Given the description of an element on the screen output the (x, y) to click on. 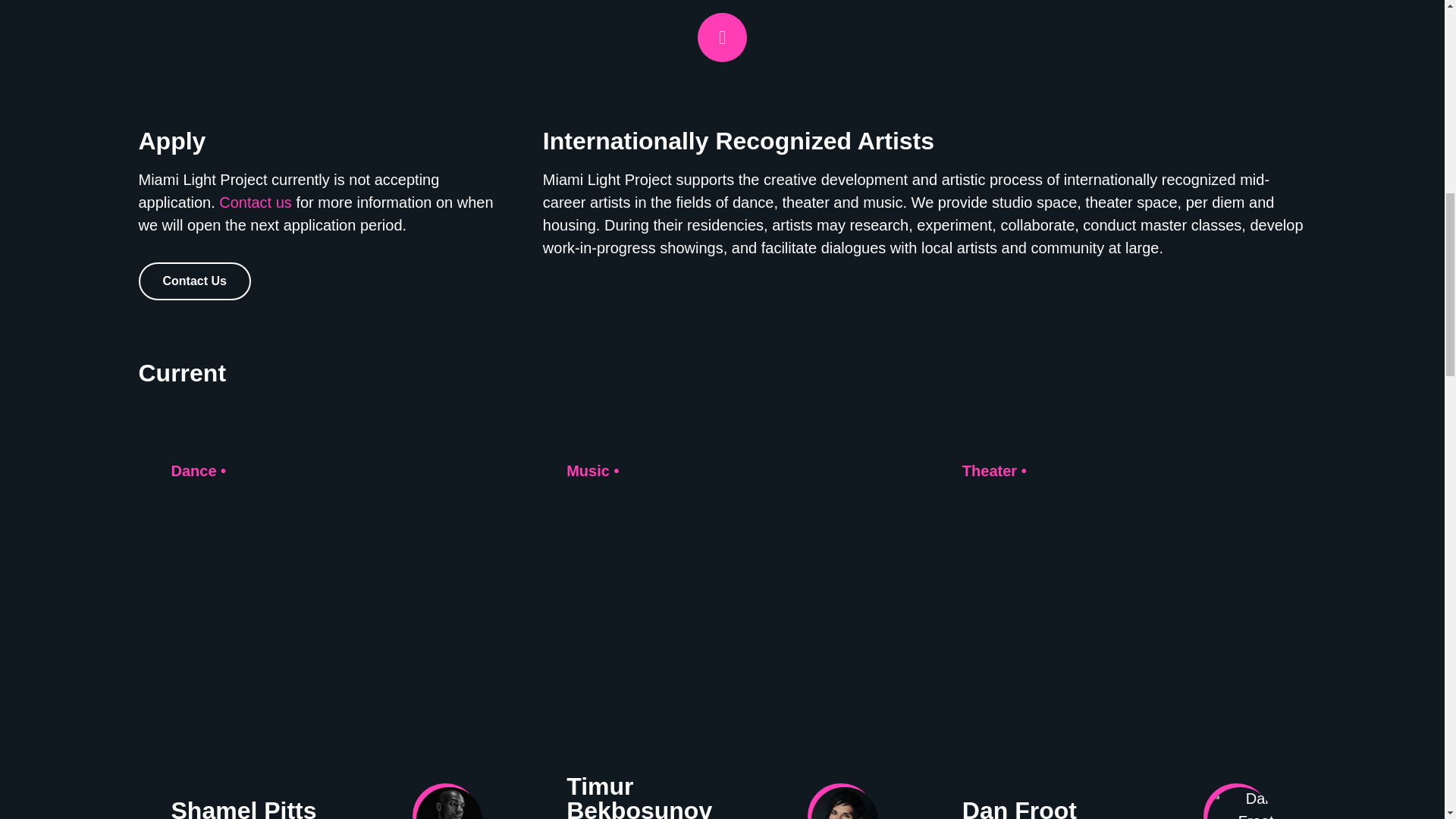
Music (588, 470)
Contact us (255, 202)
Contact Us (194, 281)
Theater (989, 470)
Dance (193, 470)
